Given the description of an element on the screen output the (x, y) to click on. 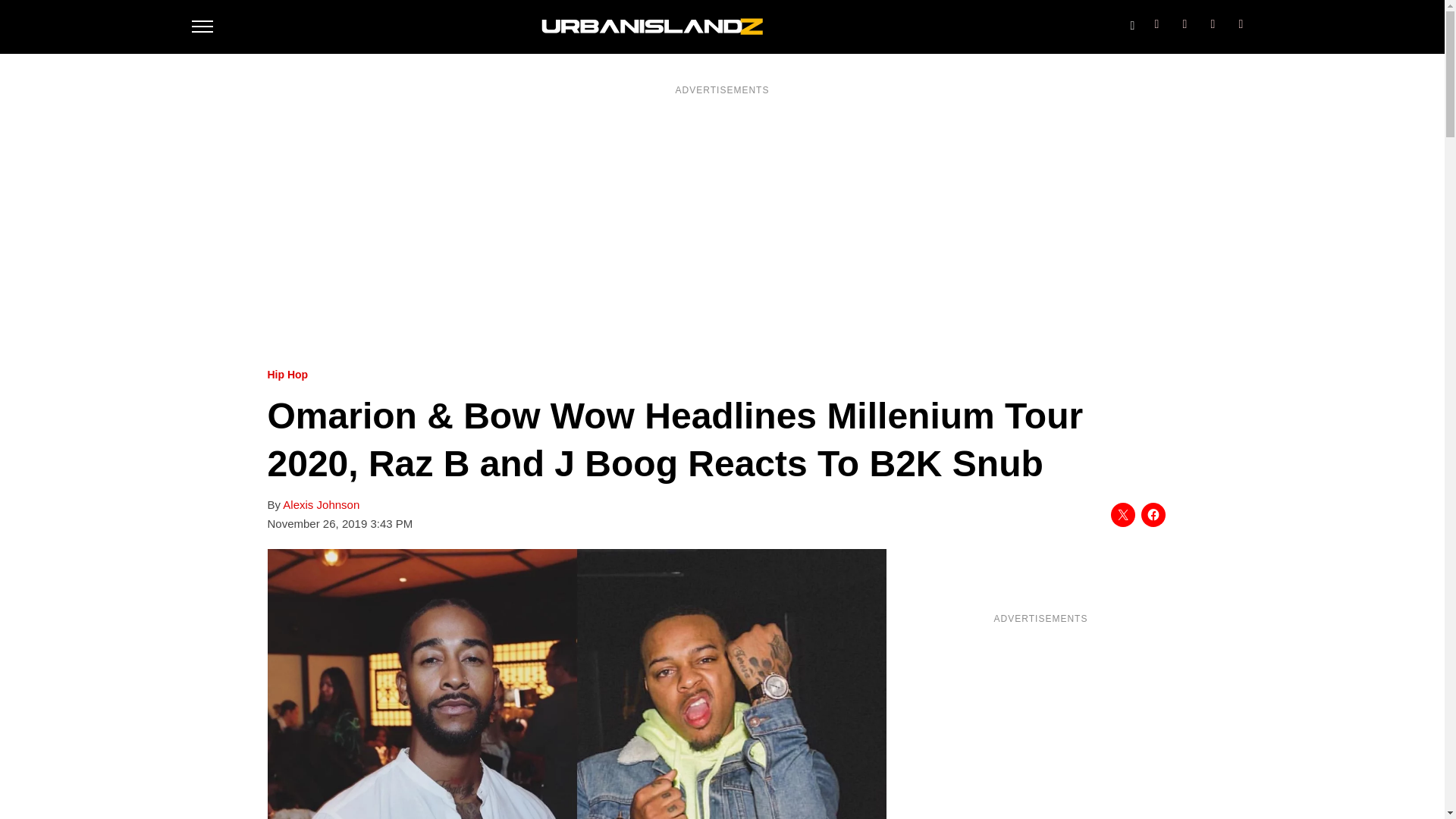
Alexis Johnson (320, 504)
Click to share on X (1121, 514)
Posts by Alexis Johnson (320, 504)
Advertisement (1039, 726)
Hip Hop (286, 375)
Search (1131, 22)
Click to share on Facebook (1152, 514)
